Given the description of an element on the screen output the (x, y) to click on. 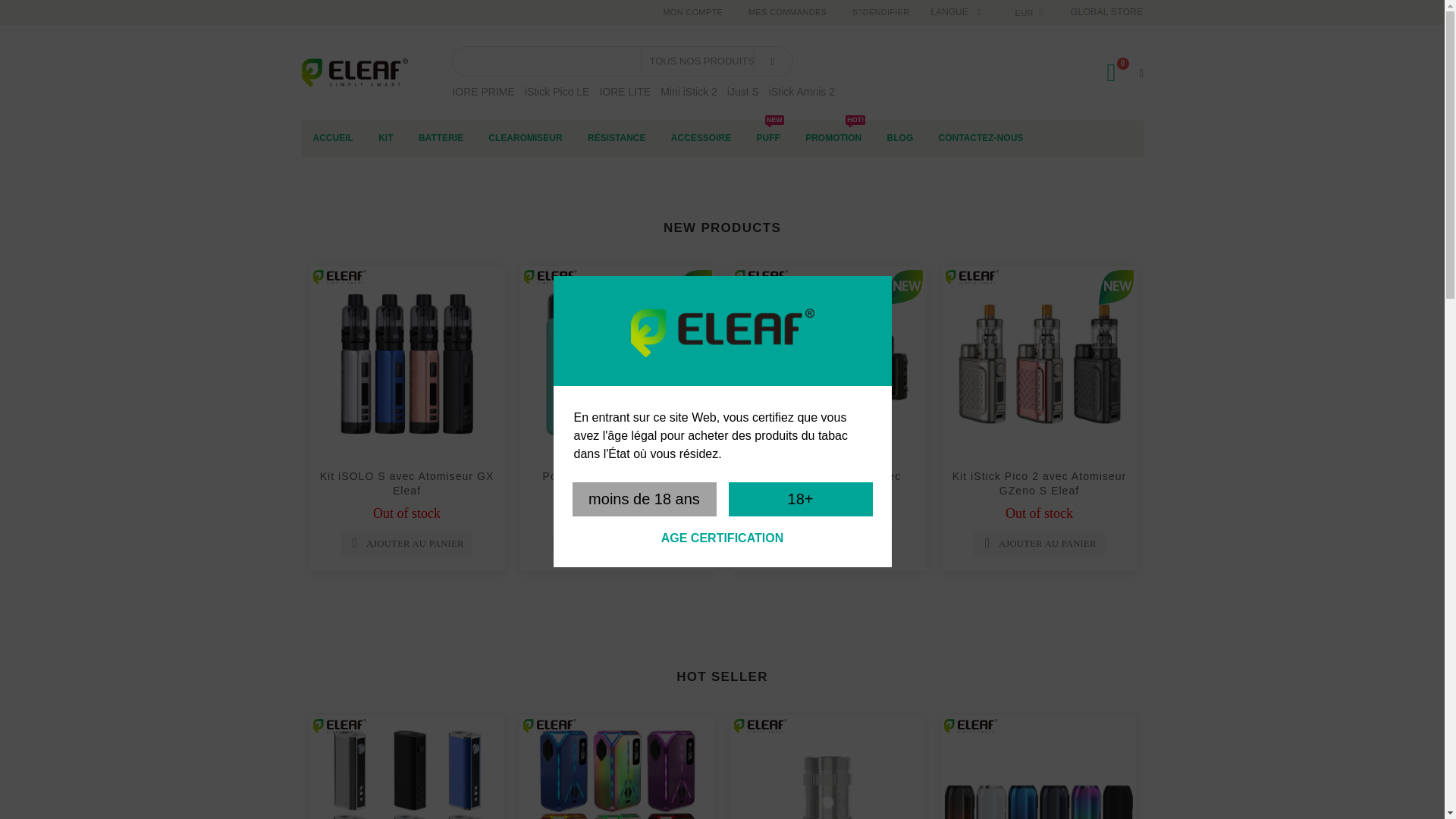
ACCUEIL (333, 138)
Pod Kit IORE LITE 350mAh Eleaf (617, 363)
BLOG (900, 138)
IORE PRIME (482, 91)
0 (1117, 72)
GLOBAL STORE (1106, 11)
Kit iStick Pico 2 avec Atomiseur GZeno S Eleaf (1039, 483)
Batterie iStick TC 40W 2600mAh Eleaf (406, 766)
Mon Compte (692, 12)
Kit iSOLO S avec Atomiseur GX Eleaf (407, 483)
MES COMMANDES (787, 12)
Search (773, 61)
IORE LITE (624, 91)
ACCESSOIRE (700, 138)
iStick Amnis 2 (801, 91)
